Given the description of an element on the screen output the (x, y) to click on. 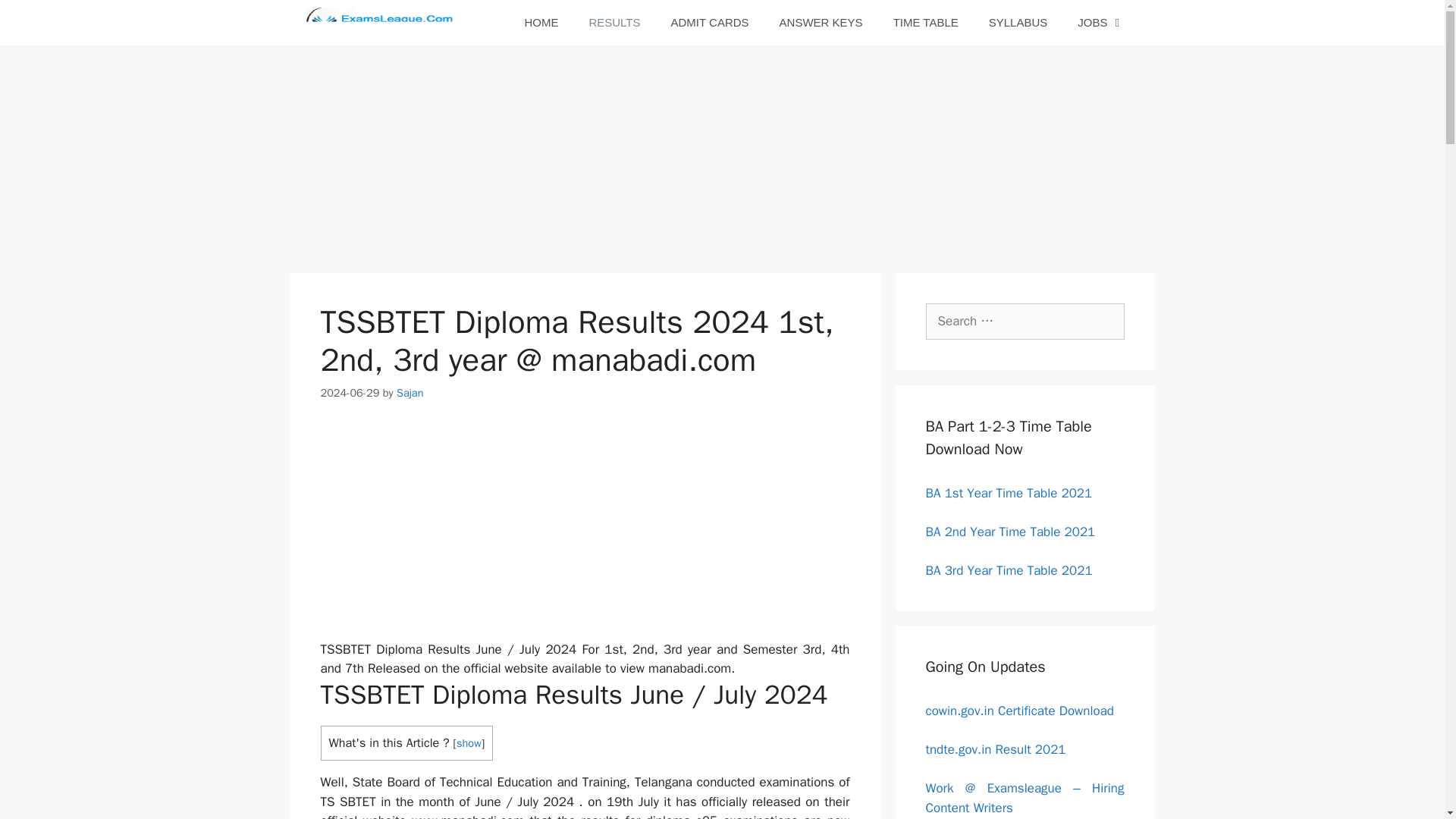
HOME (540, 22)
Search for: (1024, 321)
Advertisement (721, 778)
ANSWER KEYS (820, 22)
ExamsLeague (384, 22)
ADMIT CARDS (710, 22)
ExamsLeague (380, 22)
RESULTS (614, 22)
TIME TABLE (925, 22)
show (469, 743)
JOBS (1100, 22)
SYLLABUS (1018, 22)
Sajan (409, 392)
Advertisement (603, 533)
